Given the description of an element on the screen output the (x, y) to click on. 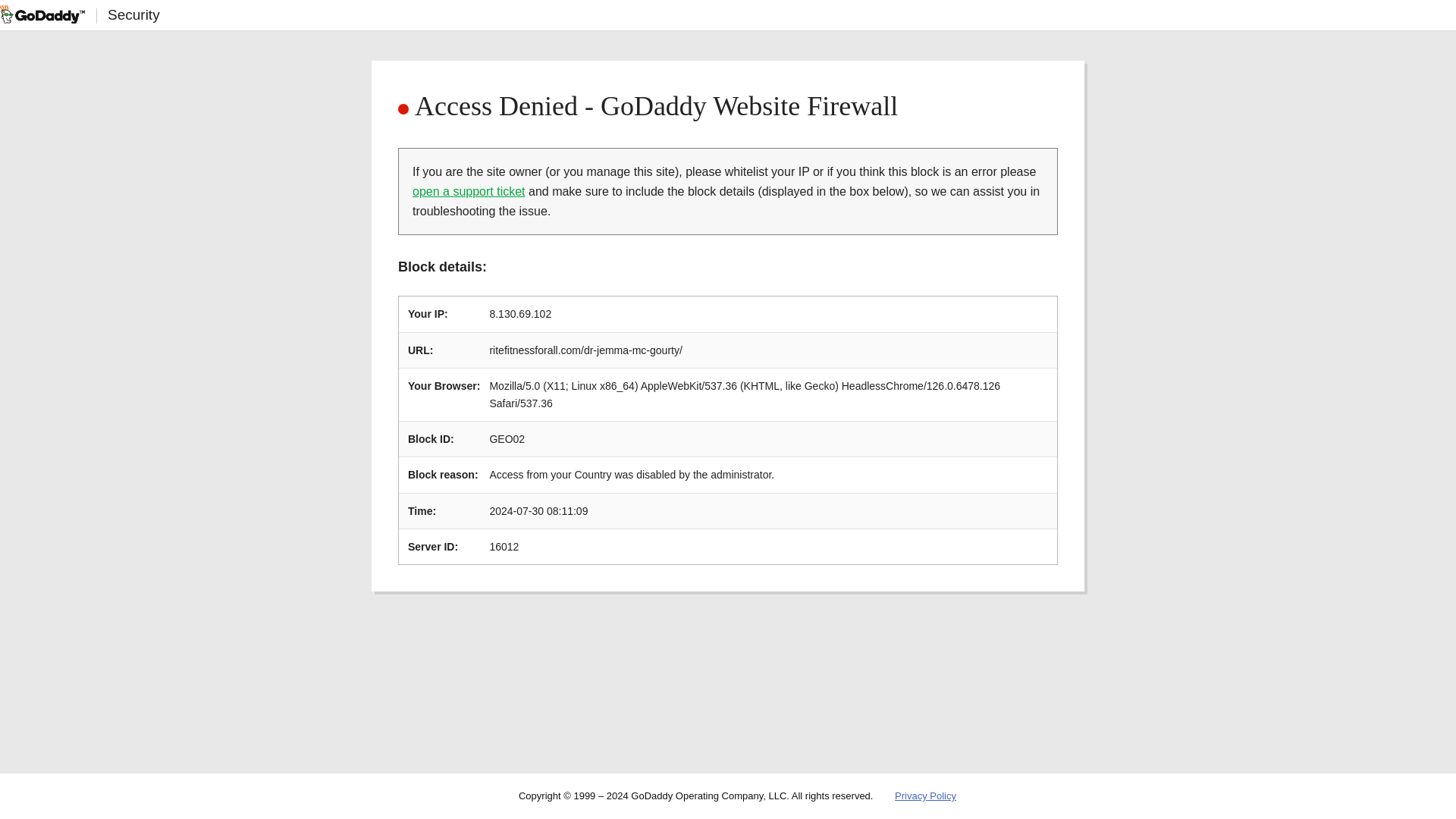
Privacy Policy (925, 795)
open a support ticket (468, 191)
